Given the description of an element on the screen output the (x, y) to click on. 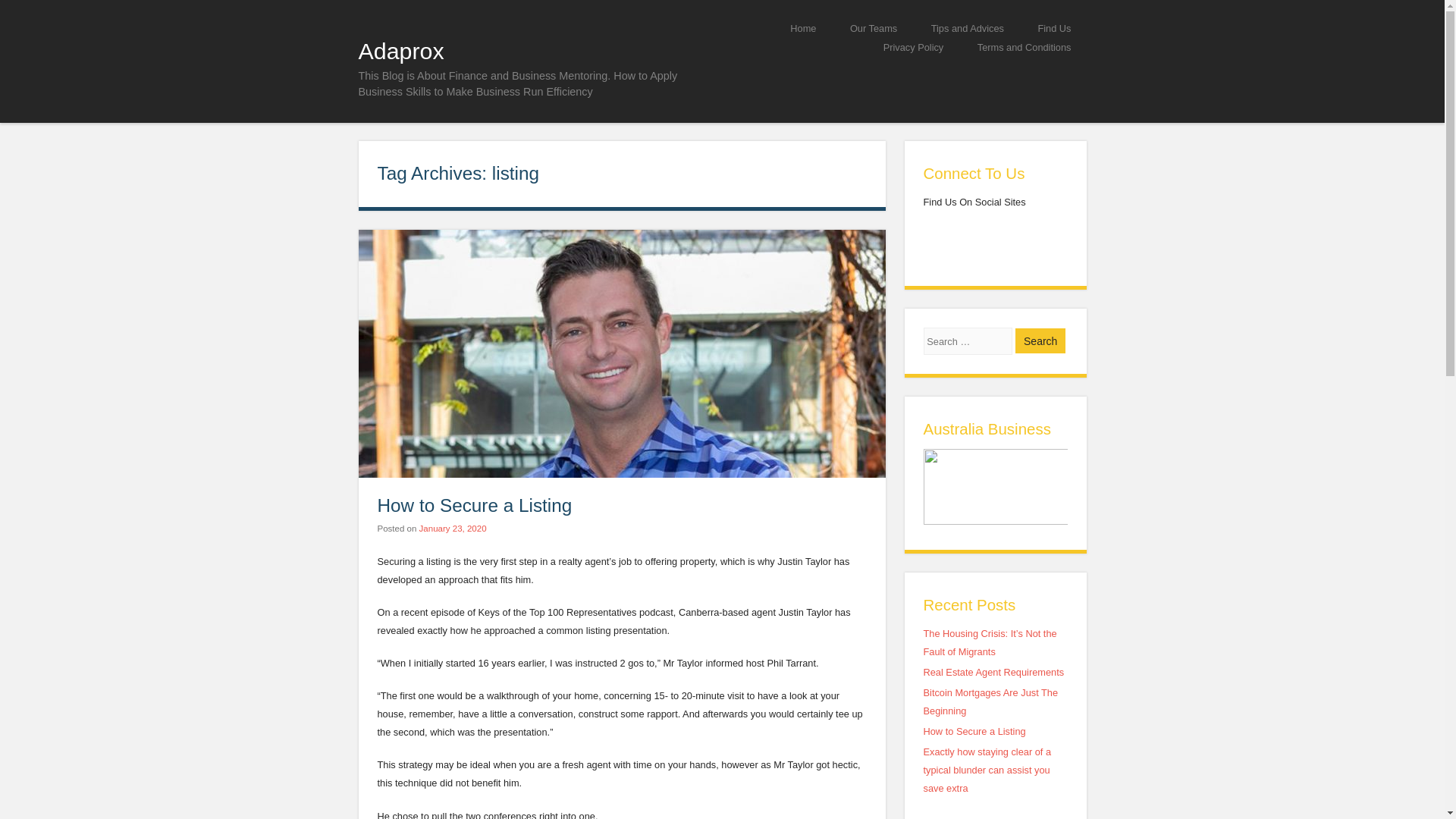
Adaprox (401, 50)
Skip to content (769, 27)
Find Us (1054, 27)
Privacy Policy (913, 46)
Adaprox (401, 50)
2:58 pm (452, 528)
How to Secure a Listing (974, 731)
Search (1039, 340)
Terms and Conditions (1024, 46)
January 23, 2020 (452, 528)
Home (802, 27)
Skip to content (769, 27)
How to Secure a Listing (474, 505)
Tips and Advices (967, 27)
